Given the description of an element on the screen output the (x, y) to click on. 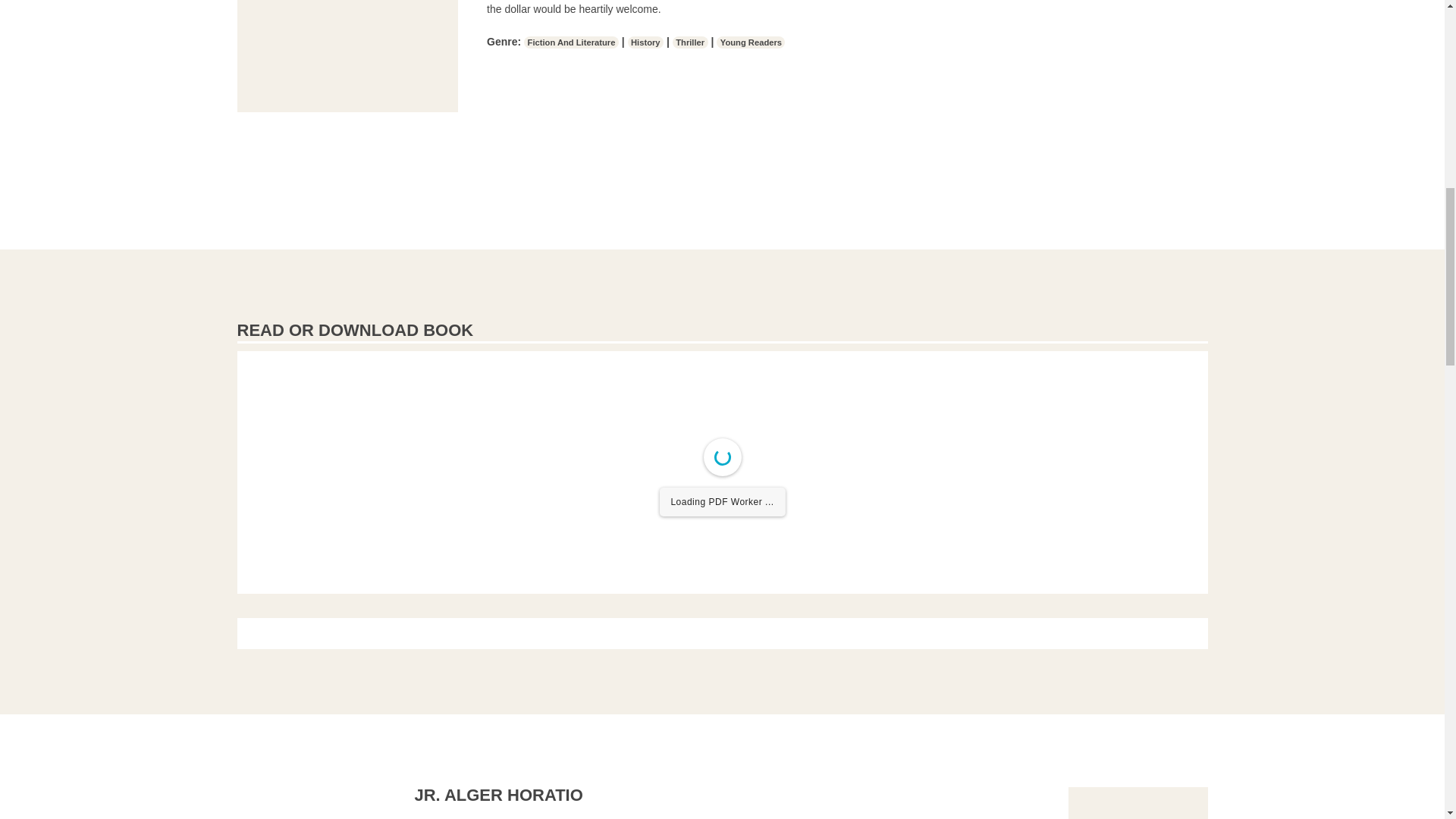
Advertisement (347, 56)
Young Readers (750, 42)
History (645, 42)
Fiction And Literature (571, 42)
Thriller (689, 42)
